Given the description of an element on the screen output the (x, y) to click on. 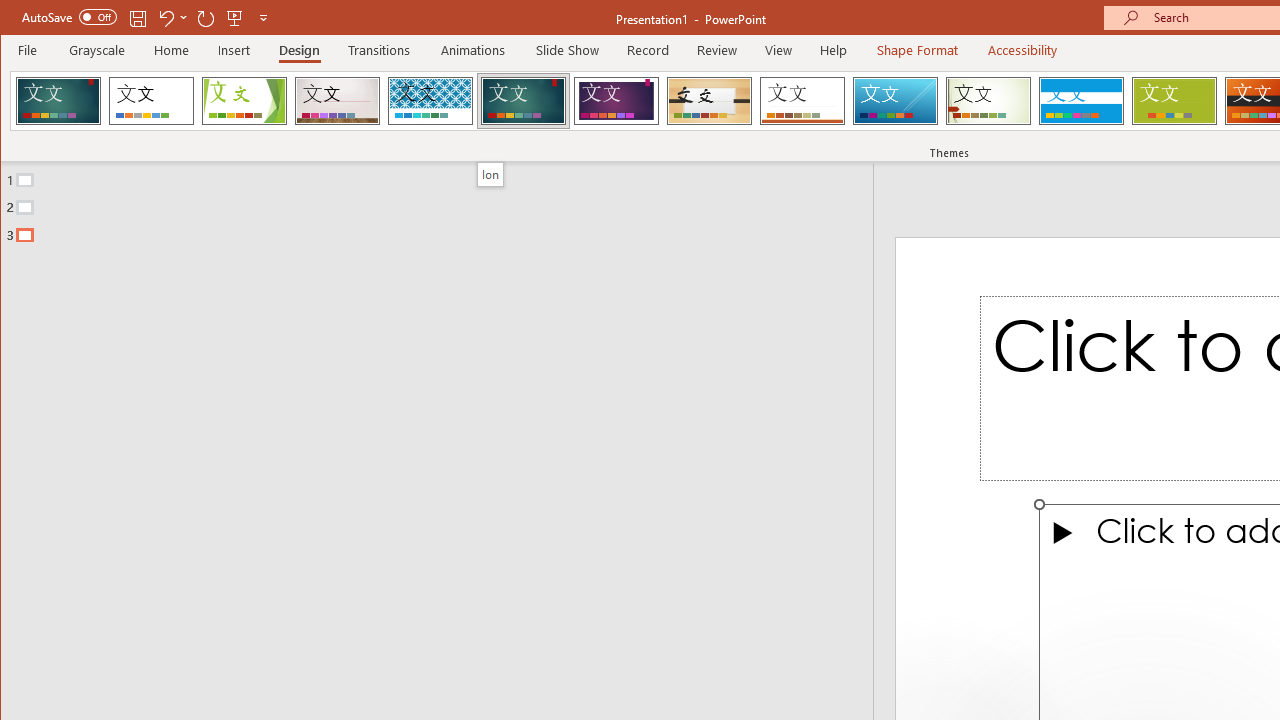
Basis (1174, 100)
Ion Boardroom (616, 100)
Grayscale (97, 50)
Outline (445, 203)
Retrospect (802, 100)
